Given the description of an element on the screen output the (x, y) to click on. 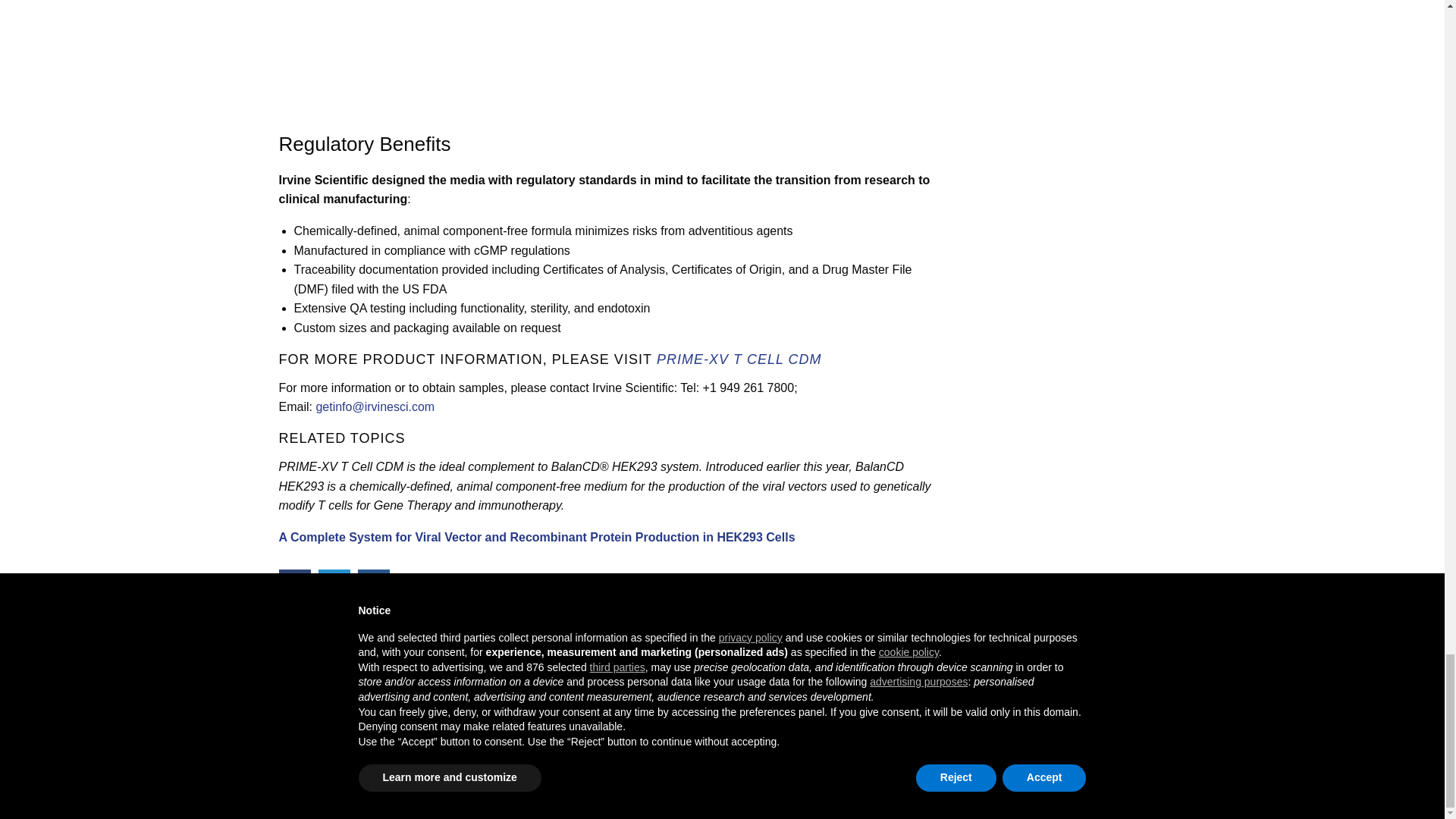
PRIME-XV T CELL CDM (739, 359)
